Given the description of an element on the screen output the (x, y) to click on. 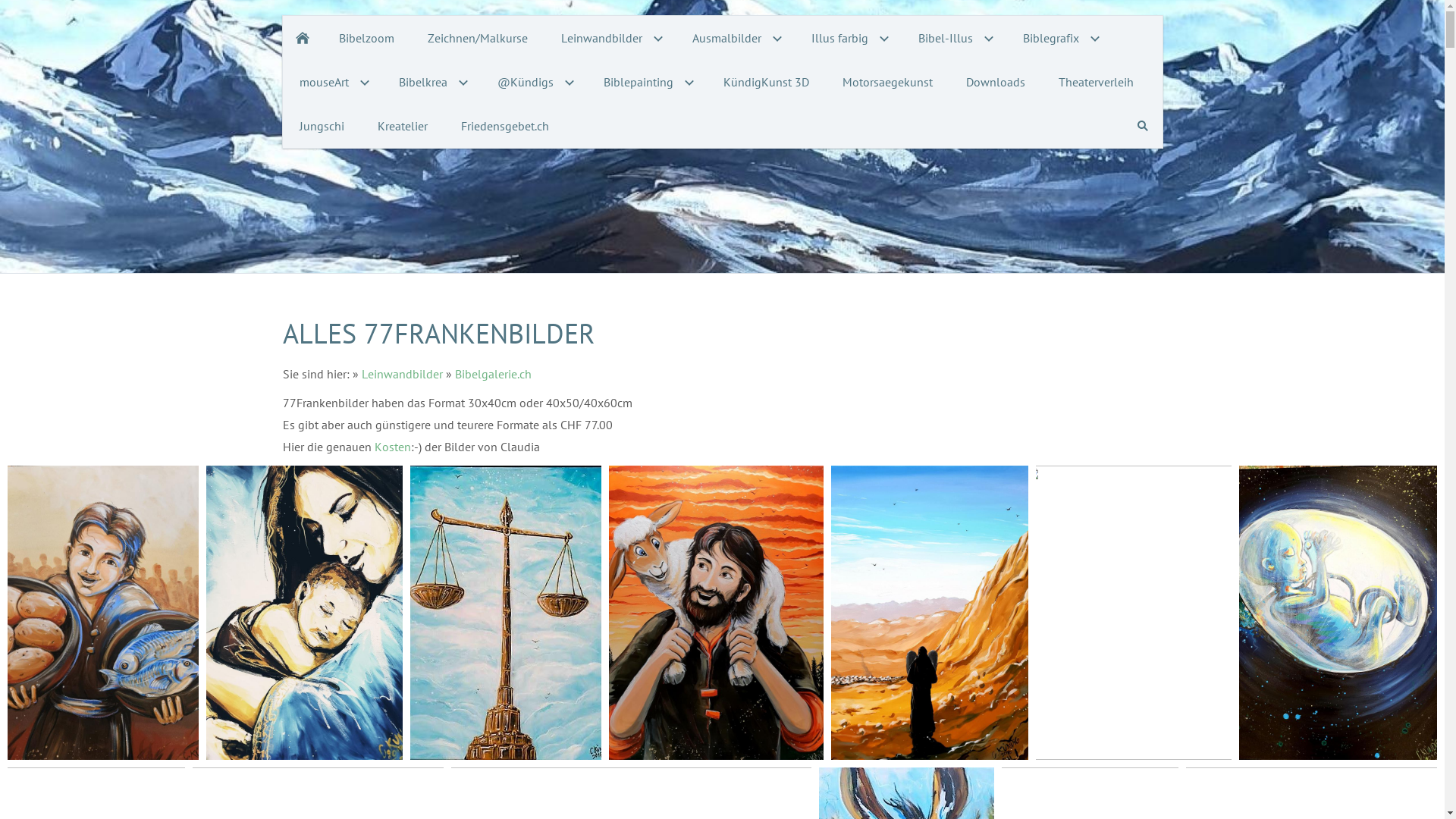
Zeichnen/Malkurse Element type: text (477, 37)
Ausmalbilder Element type: text (733, 37)
Downloads Element type: text (995, 81)
Illus farbig Element type: text (847, 37)
Biblepainting Element type: text (646, 81)
Kreatelier Element type: text (402, 125)
Bibelgalerie.ch Element type: text (493, 373)
Motorsaegekunst Element type: text (886, 81)
mouseArt Element type: text (331, 81)
Theaterverleih Element type: text (1095, 81)
Biblegrafix Element type: text (1058, 37)
Friedensgebet.ch Element type: text (504, 125)
Leinwandbilder Element type: text (401, 373)
Bibelzoom Element type: text (365, 37)
Bibel-Illus Element type: text (952, 37)
Kosten Element type: text (392, 446)
Leinwandbilder Element type: text (609, 37)
Bibelkrea Element type: text (431, 81)
Jungschi Element type: text (321, 125)
